Given the description of an element on the screen output the (x, y) to click on. 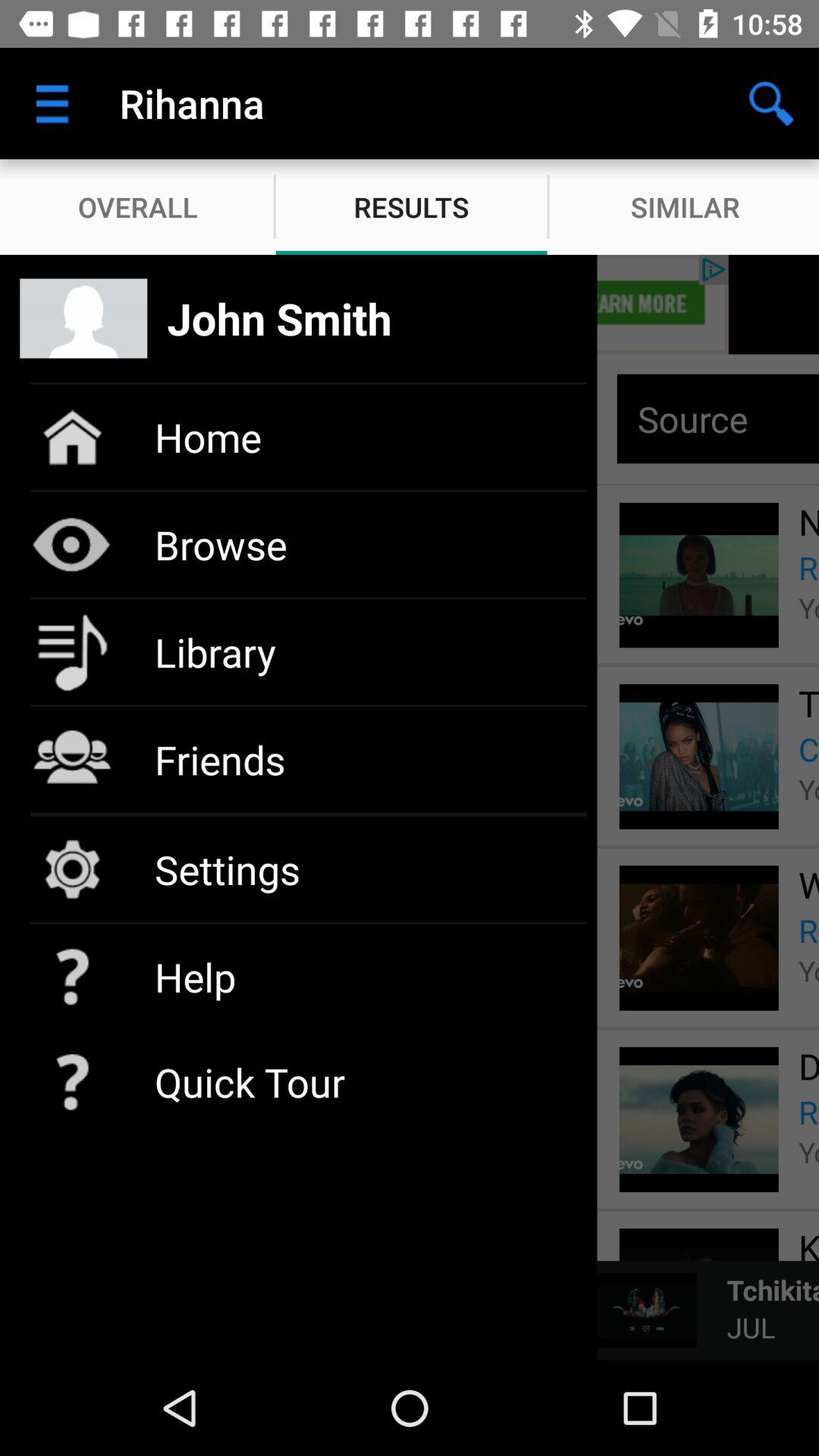
select forth image from top (698, 1119)
